Given the description of an element on the screen output the (x, y) to click on. 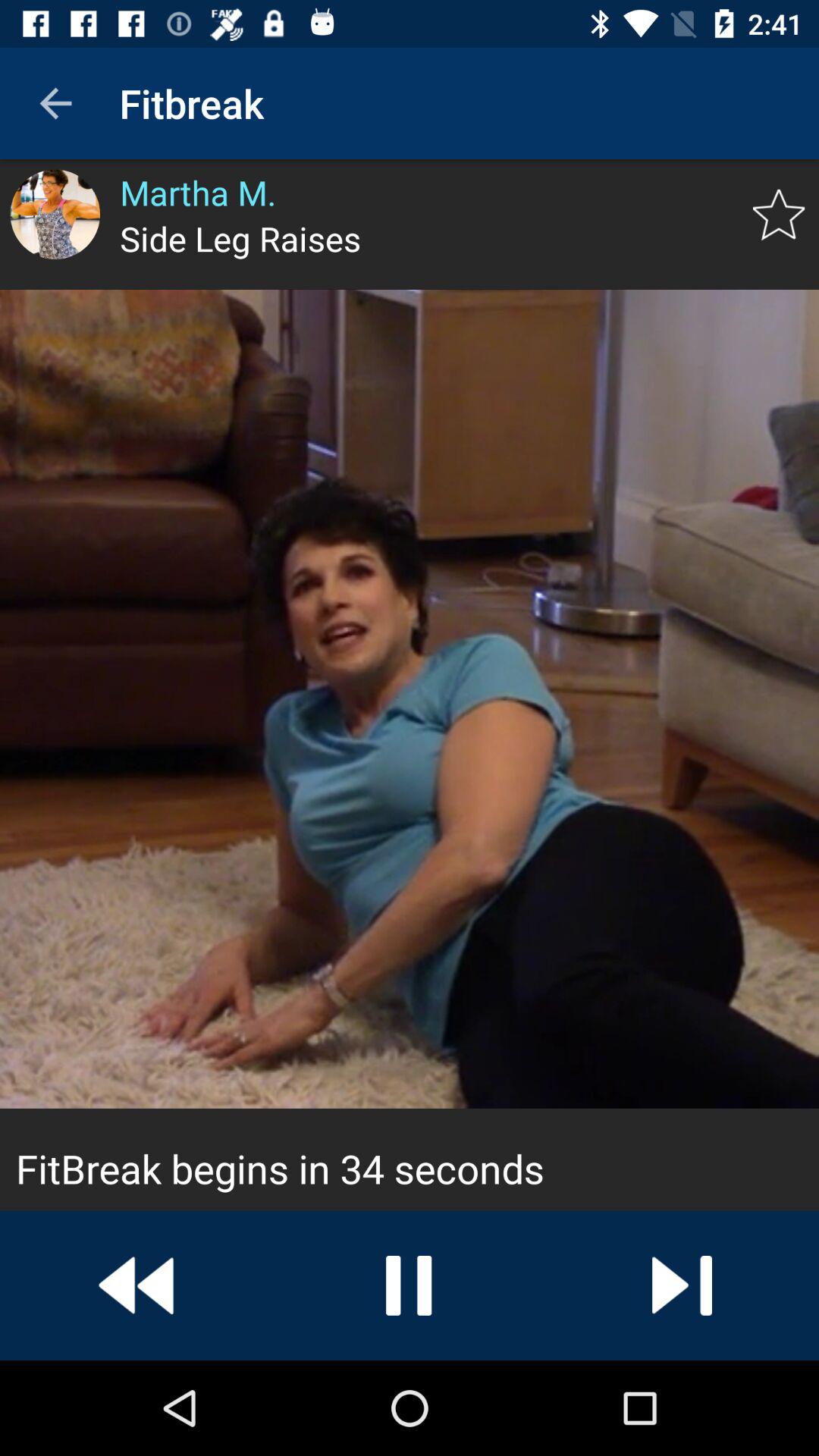
choose the icon to the left of the fitbreak item (55, 103)
